Given the description of an element on the screen output the (x, y) to click on. 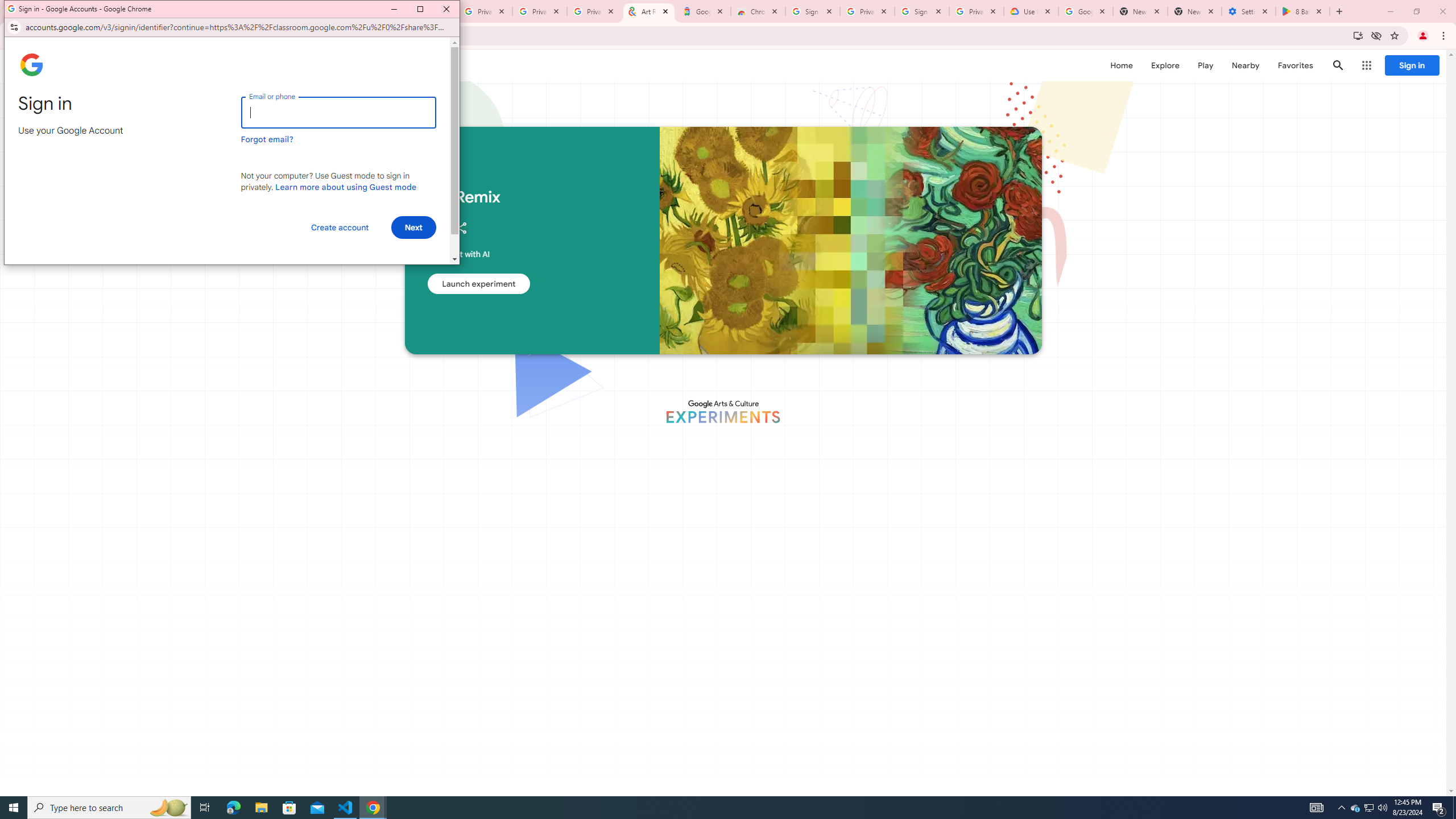
Create account (339, 227)
English (United States) (65, 270)
Play (1205, 65)
Explore (1164, 65)
Launch experiment (477, 283)
Favorites (1295, 65)
8 Ball Pool - Apps on Google Play (1303, 11)
Task View (1355, 807)
